Given the description of an element on the screen output the (x, y) to click on. 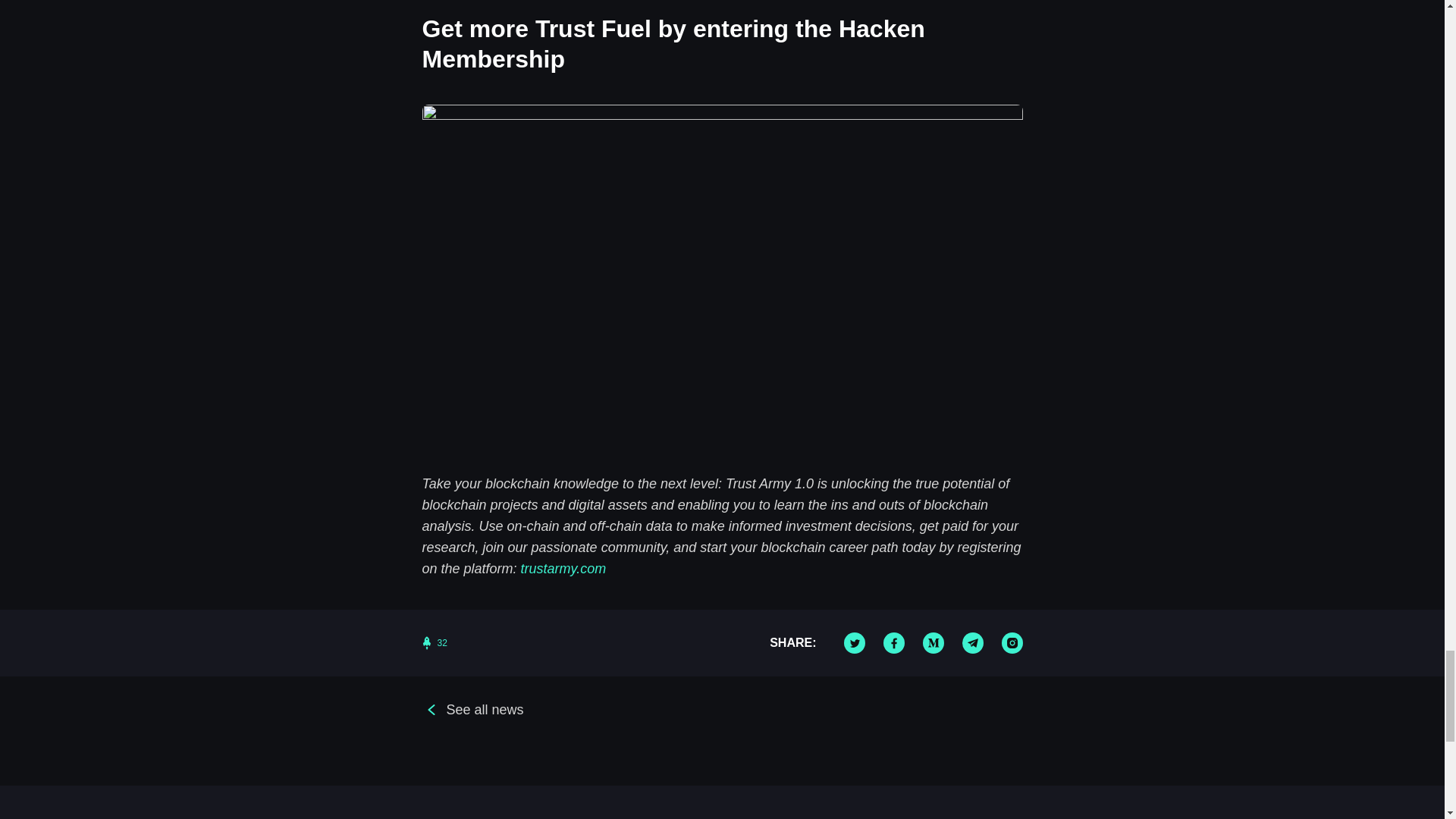
trustarmy.com (564, 568)
See all news (472, 710)
